Given the description of an element on the screen output the (x, y) to click on. 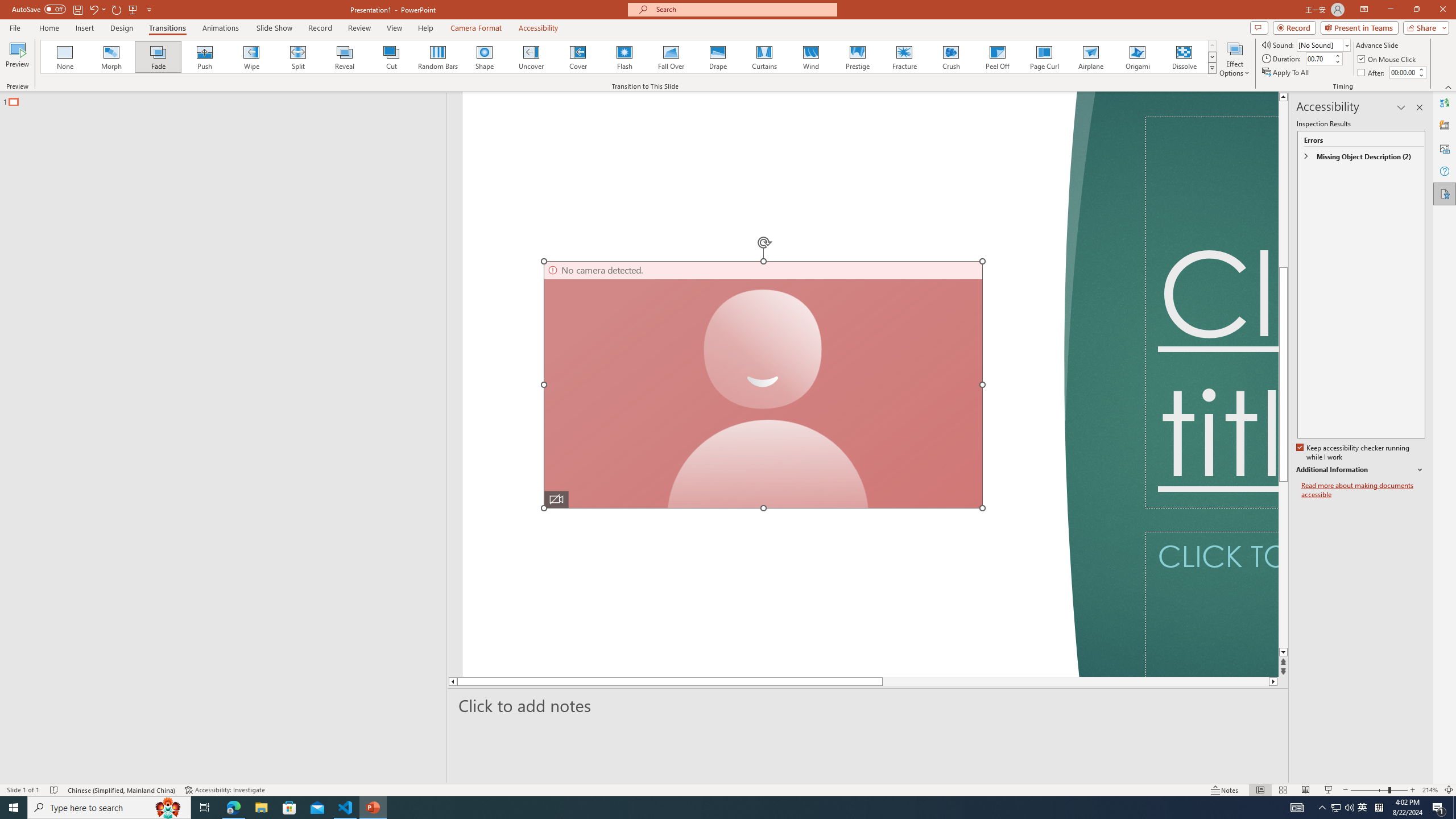
Transition Effects (1212, 67)
Subtitle TextBox (1211, 603)
Split (298, 56)
